Given the description of an element on the screen output the (x, y) to click on. 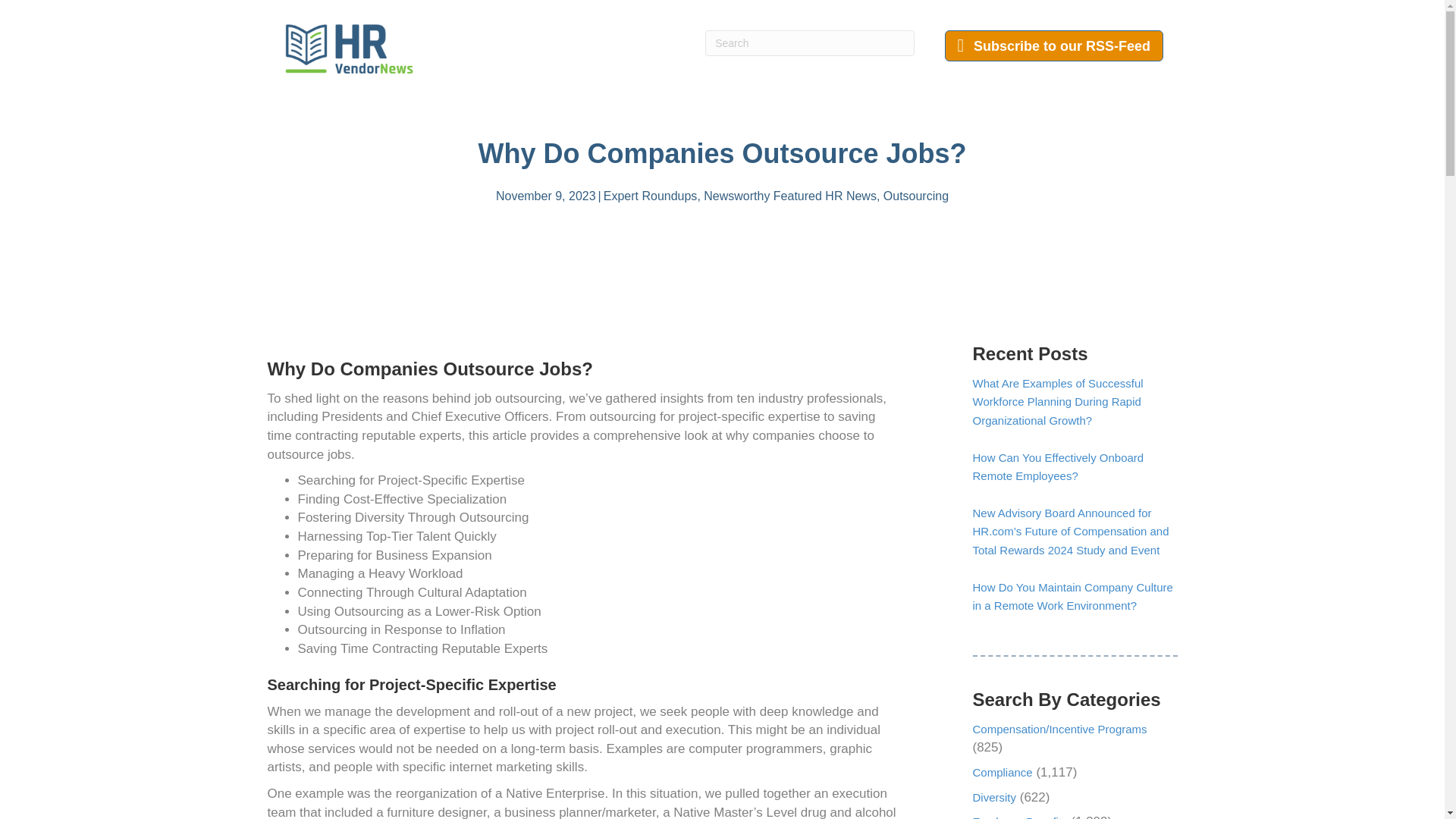
HR Logo color (348, 48)
Employee Benefits (1019, 816)
Outsourcing (916, 195)
Newsworthy Featured HR News (789, 195)
Subscribe to our RSS-Feed (1053, 45)
How Can You Effectively Onboard Remote Employees? (1057, 466)
Type and press Enter to search. (809, 43)
Expert Roundups (650, 195)
Diversity (994, 796)
Compliance (1002, 771)
